Given the description of an element on the screen output the (x, y) to click on. 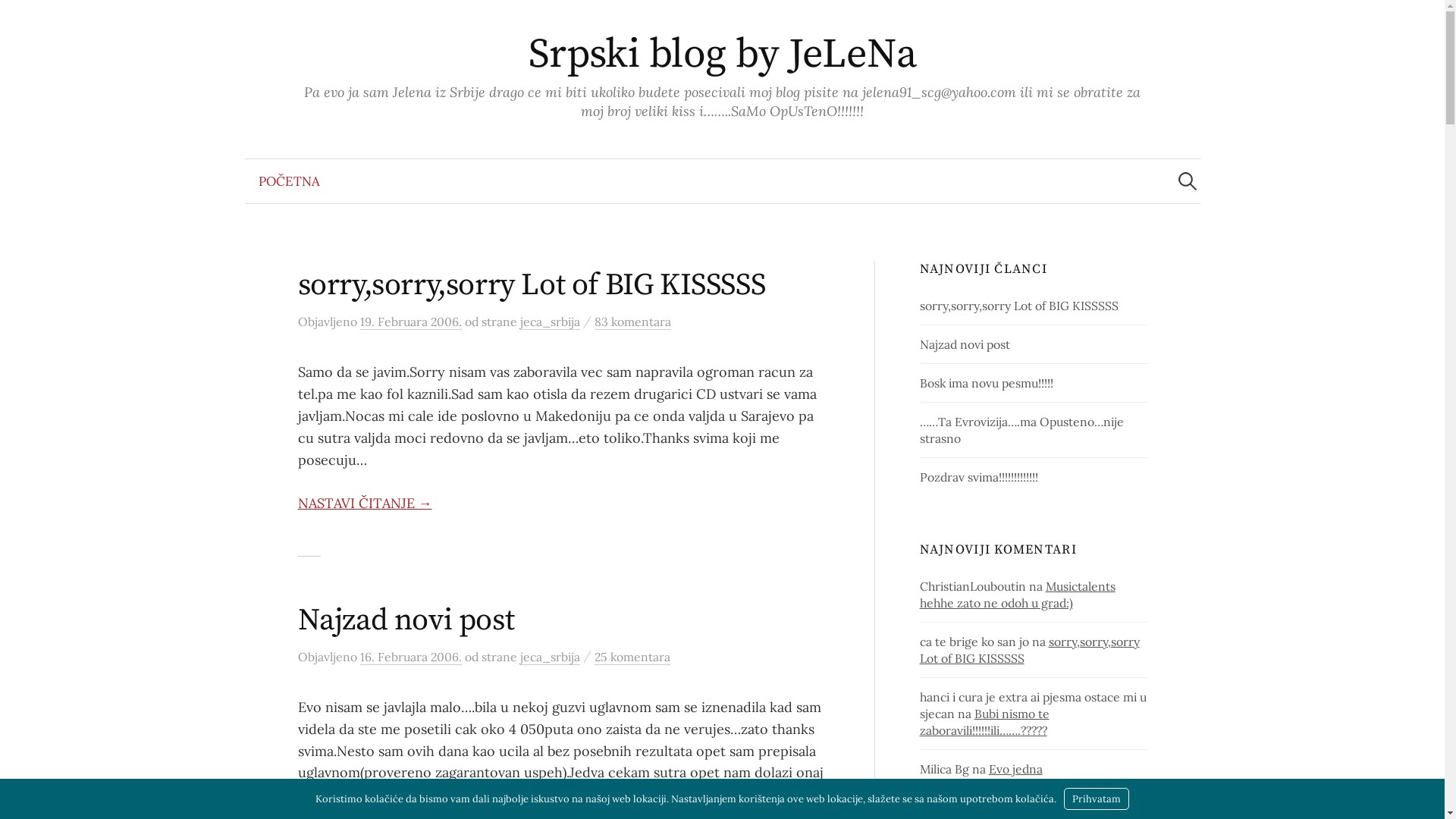
Pretraga Element type: text (18, 18)
Prihvatam Element type: text (1096, 798)
Evo jedna ANKETA!!!MOZE????? Element type: text (980, 777)
jeca_srbija Element type: text (550, 321)
Pozdrav svima!!!!!!!!!!!!! Element type: text (978, 476)
19. Februara 2006. Element type: text (410, 321)
Najzad novi post Element type: text (964, 343)
sorry,sorry,sorry Lot of BIG KISSSSS Element type: text (1029, 649)
16. Februara 2006. Element type: text (410, 657)
Musictalents hehhe zato ne odoh u grad:) Element type: text (1017, 594)
sorry,sorry,sorry Lot of BIG KISSSSS Element type: text (1018, 305)
25 komentara
za Najzad novi post Element type: text (632, 657)
Najzad novi post Element type: text (405, 620)
jeca_srbija Element type: text (550, 657)
83 komentara
za sorry,sorry,sorry Lot of BIG KISSSSS Element type: text (632, 321)
sorry,sorry,sorry Lot of BIG KISSSSS Element type: text (531, 285)
Bosk ima novu pesmu!!!!! Element type: text (986, 382)
Srpski blog by JeLeNa Element type: text (722, 54)
